Given the description of an element on the screen output the (x, y) to click on. 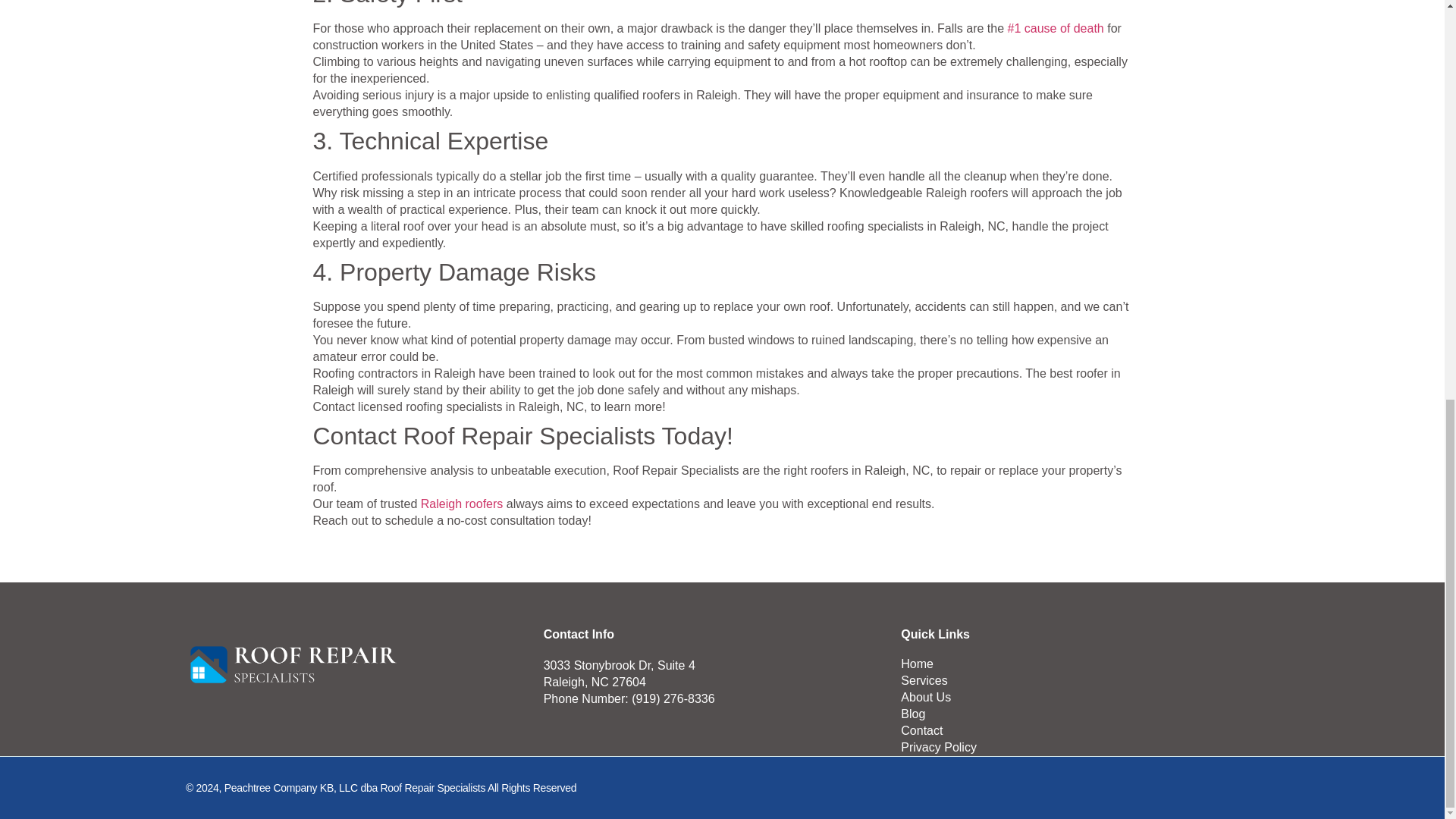
Services (1080, 680)
Raleigh roofers (459, 503)
Blog (1080, 713)
Home (1080, 664)
Privacy Policy (1080, 747)
About Us (1080, 697)
Contact (1080, 730)
